Given the description of an element on the screen output the (x, y) to click on. 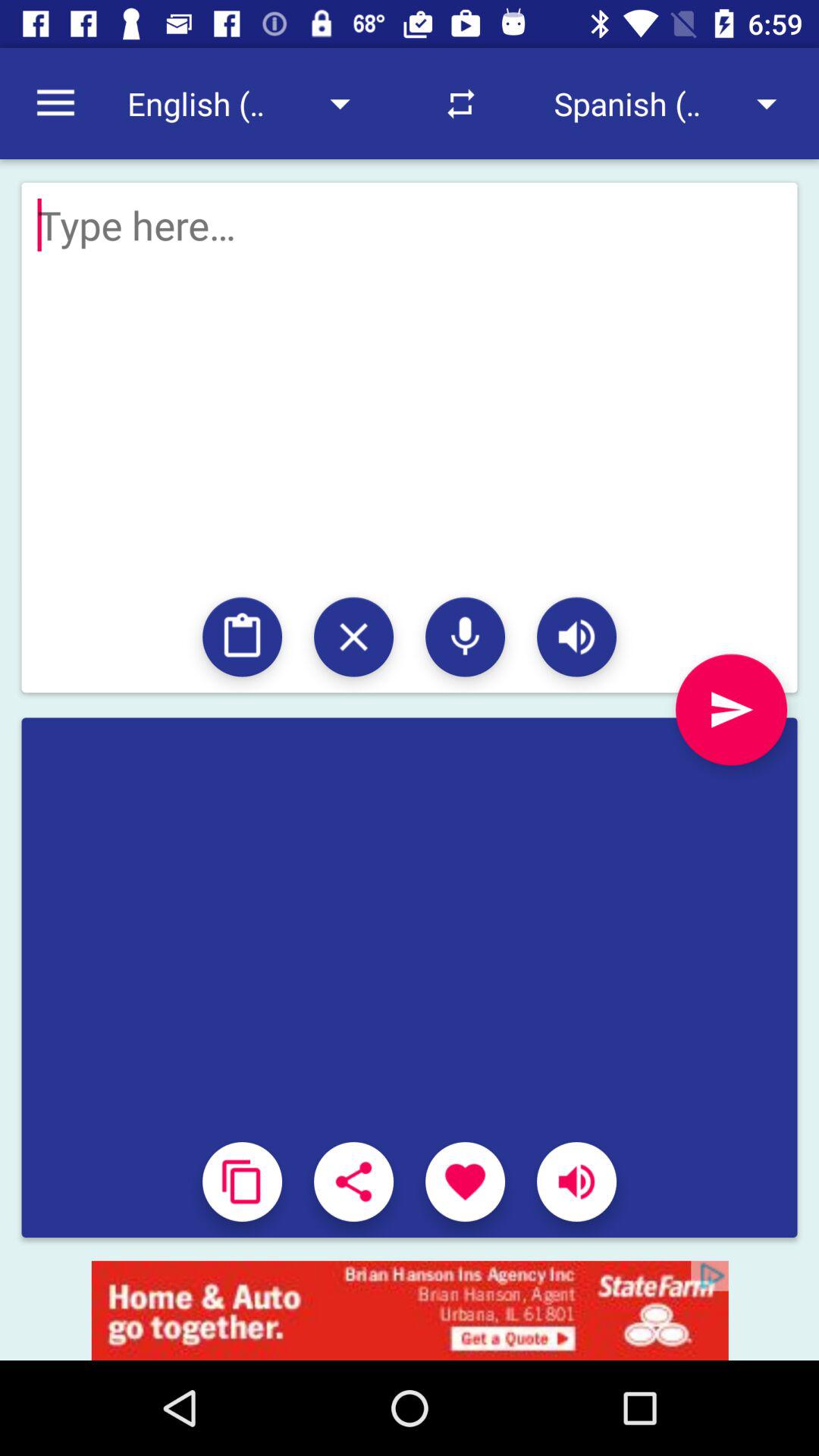
share the article (353, 1181)
